Given the description of an element on the screen output the (x, y) to click on. 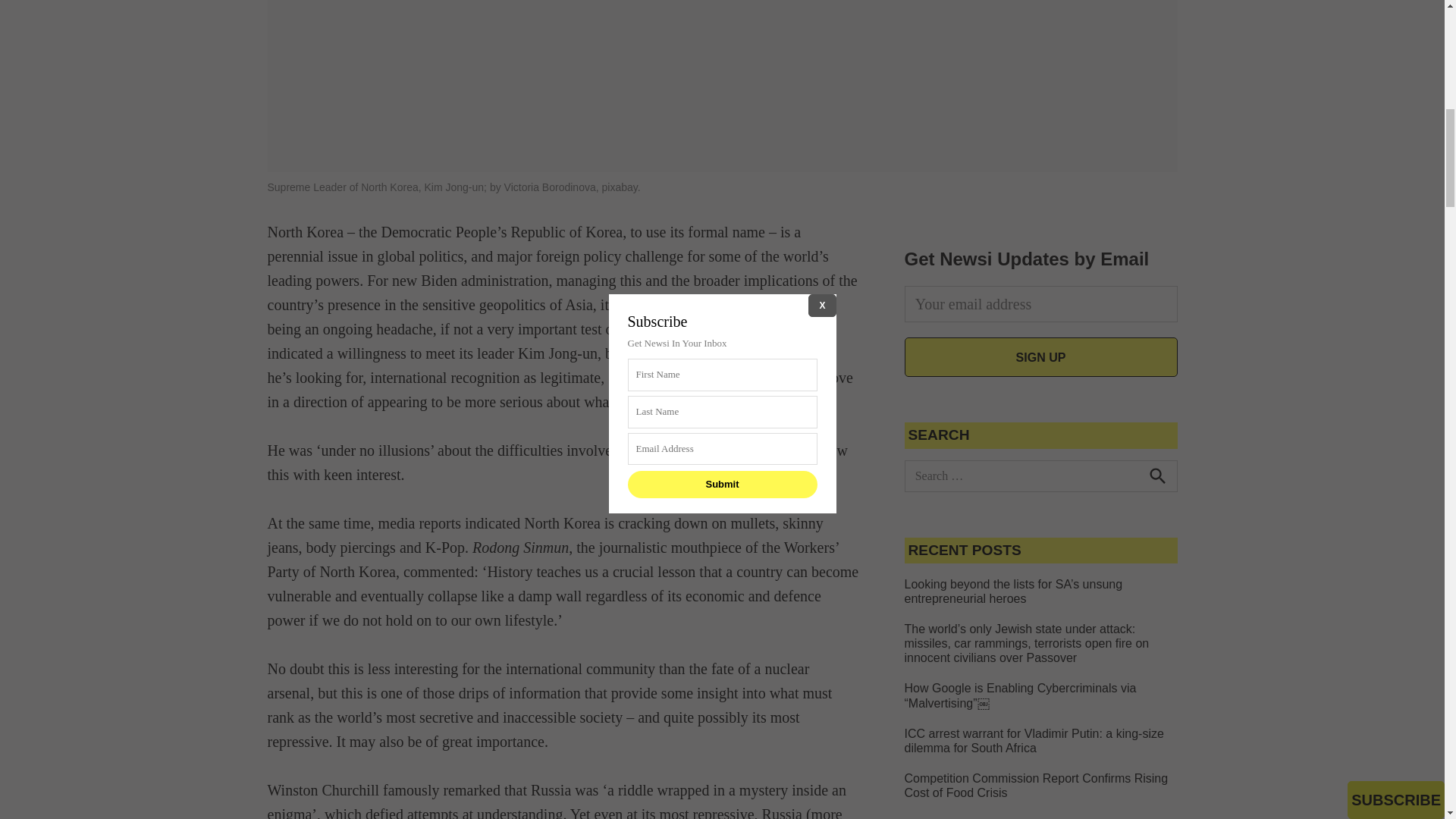
Sign up (1040, 356)
Sign up (1040, 356)
